Given the description of an element on the screen output the (x, y) to click on. 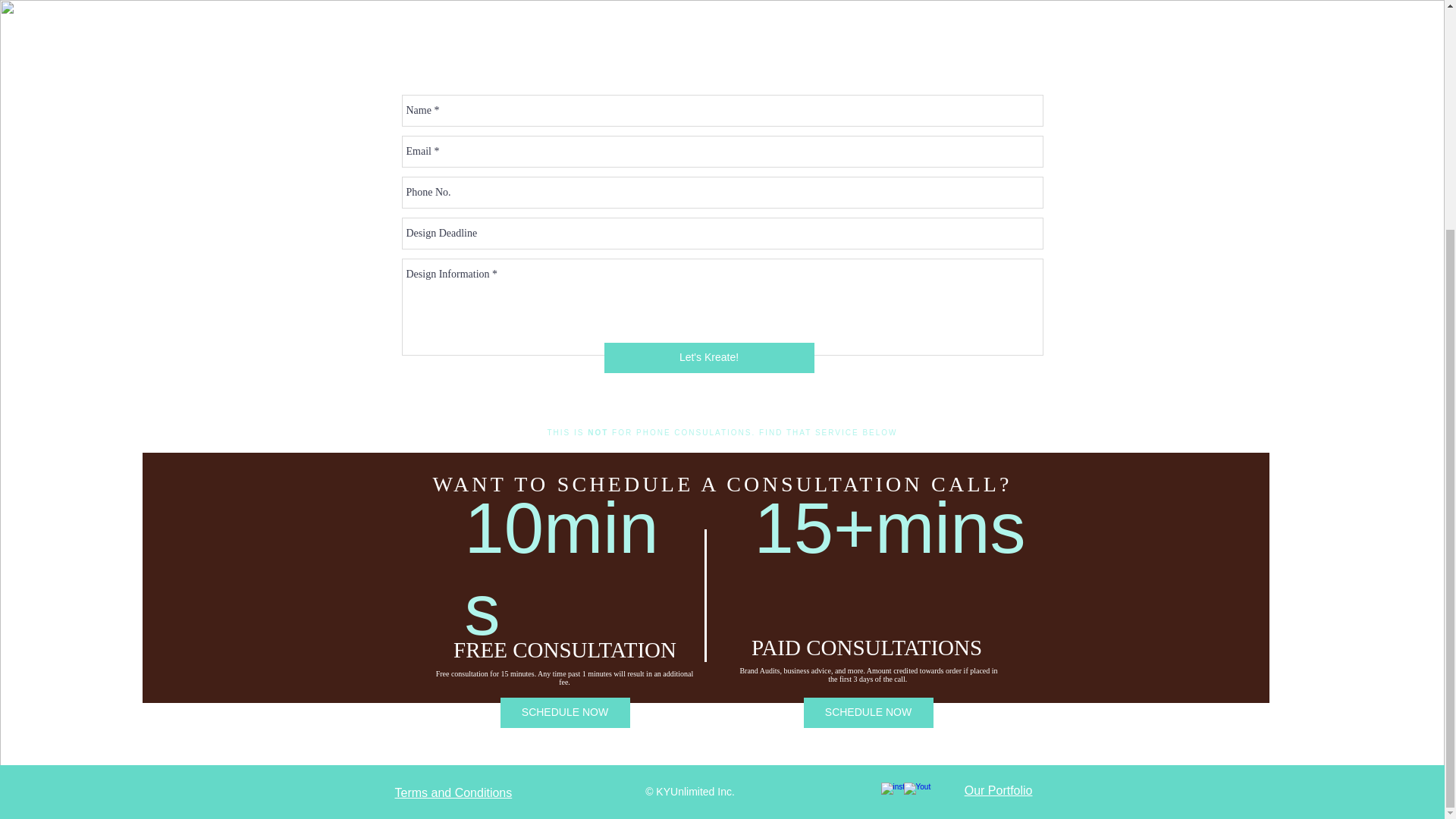
Let's Kreate! (708, 358)
Our Portfolio (997, 789)
Terms and Conditions (453, 792)
SCHEDULE NOW (565, 712)
SCHEDULE NOW (868, 712)
